Given the description of an element on the screen output the (x, y) to click on. 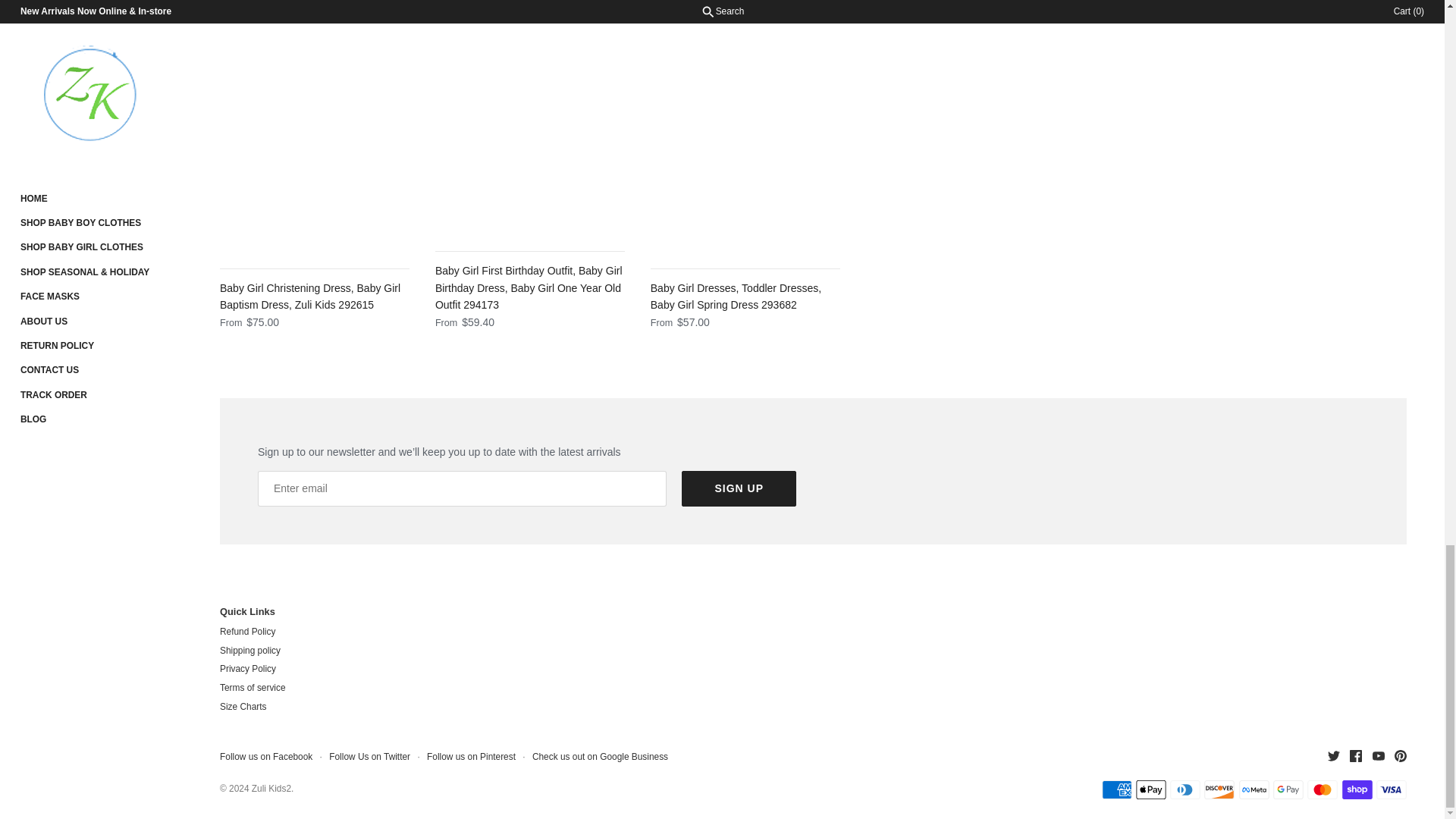
Apple Pay (1150, 789)
American Express (1115, 789)
Twitter (1333, 756)
Pinterest (1400, 756)
Youtube (1378, 756)
Diners Club (1184, 789)
Mastercard (1322, 789)
Google Pay (1287, 789)
Visa (1390, 789)
Meta Pay (1254, 789)
Shop Pay (1357, 789)
Discover (1219, 789)
